Given the description of an element on the screen output the (x, y) to click on. 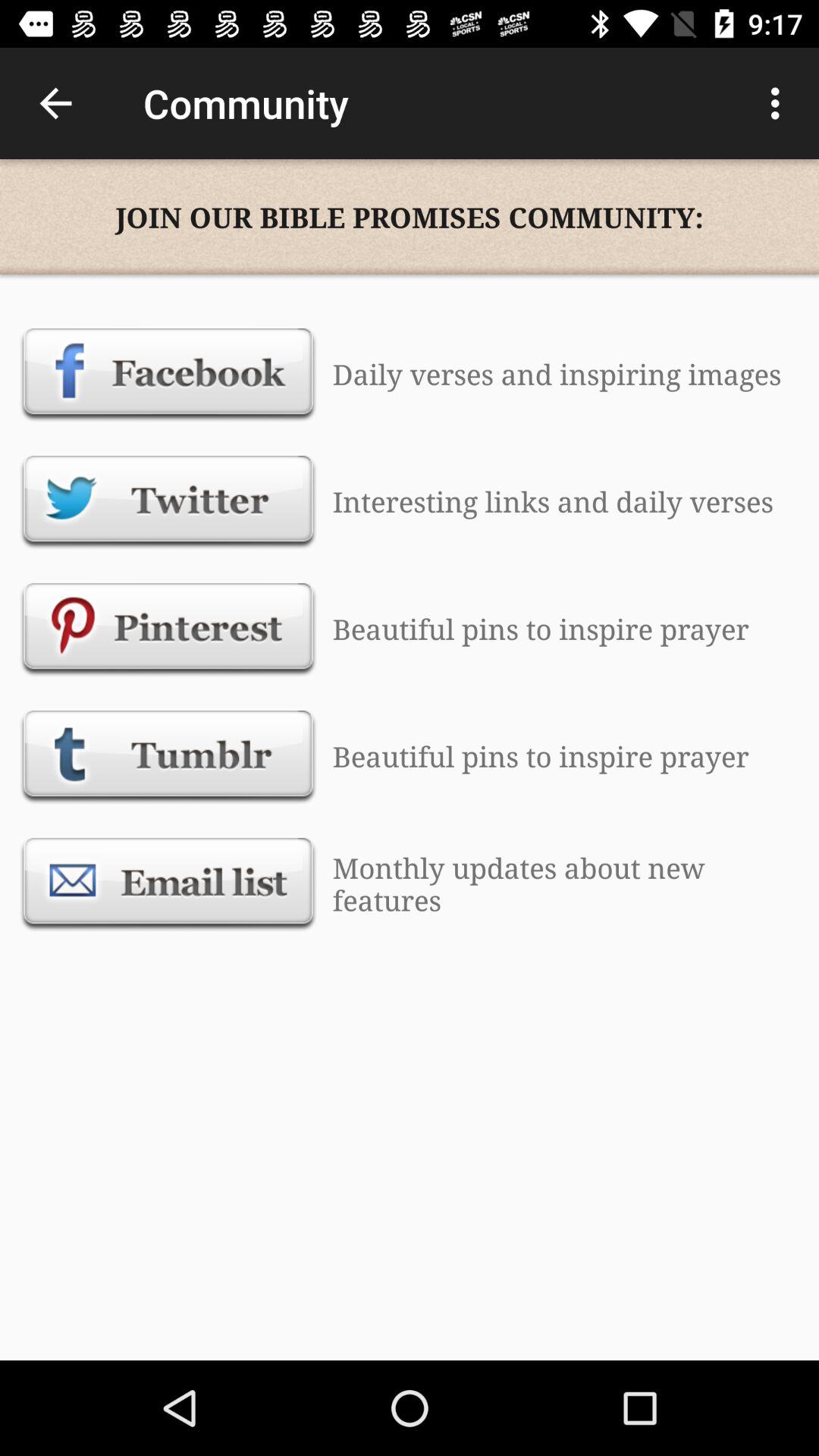
share to tumblr (167, 756)
